Given the description of an element on the screen output the (x, y) to click on. 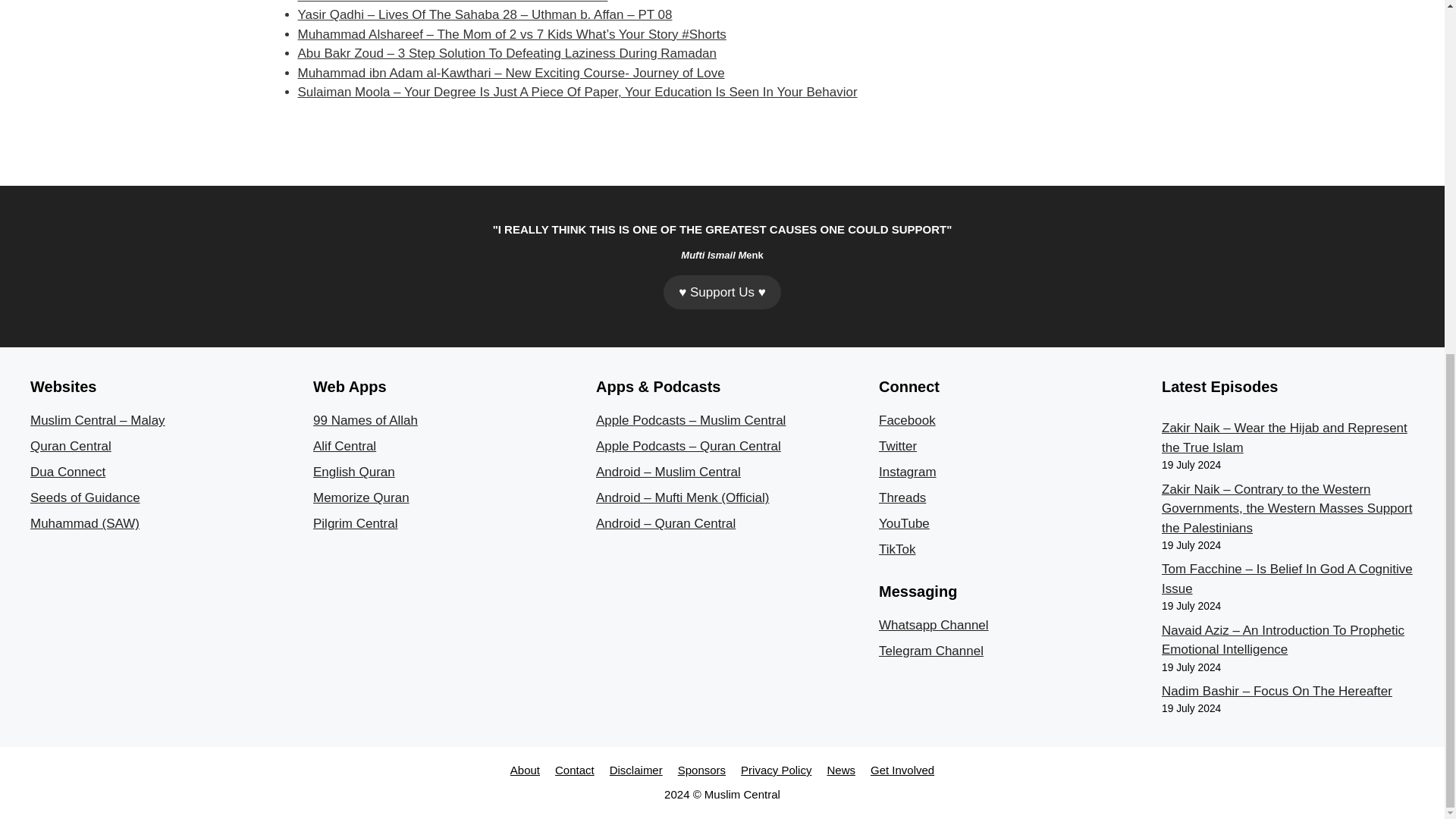
English Quran (353, 472)
Quran Central (71, 445)
99 Names of Allah (365, 420)
Pilgrim Central (355, 523)
Alif Central (344, 445)
Seeds of Guidance (84, 497)
Memorize Quran (361, 497)
Dua Connect (67, 472)
